Given the description of an element on the screen output the (x, y) to click on. 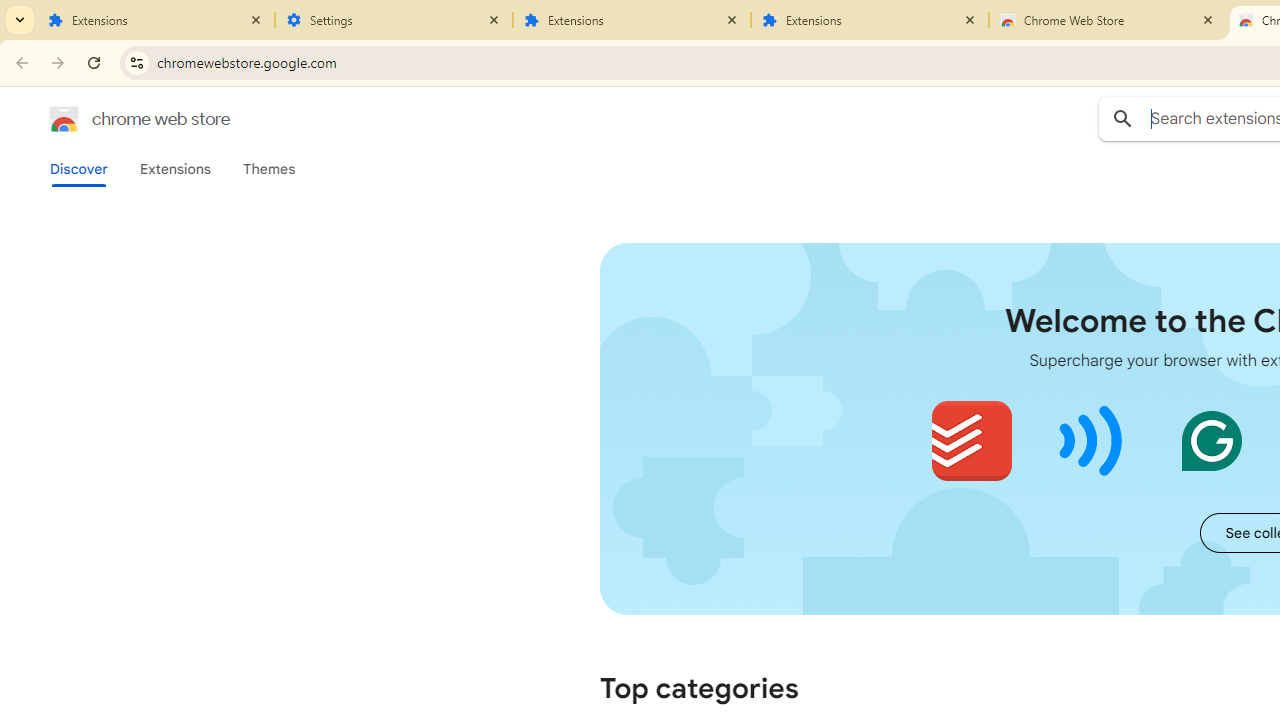
Extensions (870, 20)
Volume Master (1091, 440)
Extensions (156, 20)
Chrome Web Store logo chrome web store (118, 118)
Chrome Web Store (1108, 20)
Grammarly: AI Writing and Grammar Checker App (1211, 440)
Settings (394, 20)
Extensions (174, 169)
